Given the description of an element on the screen output the (x, y) to click on. 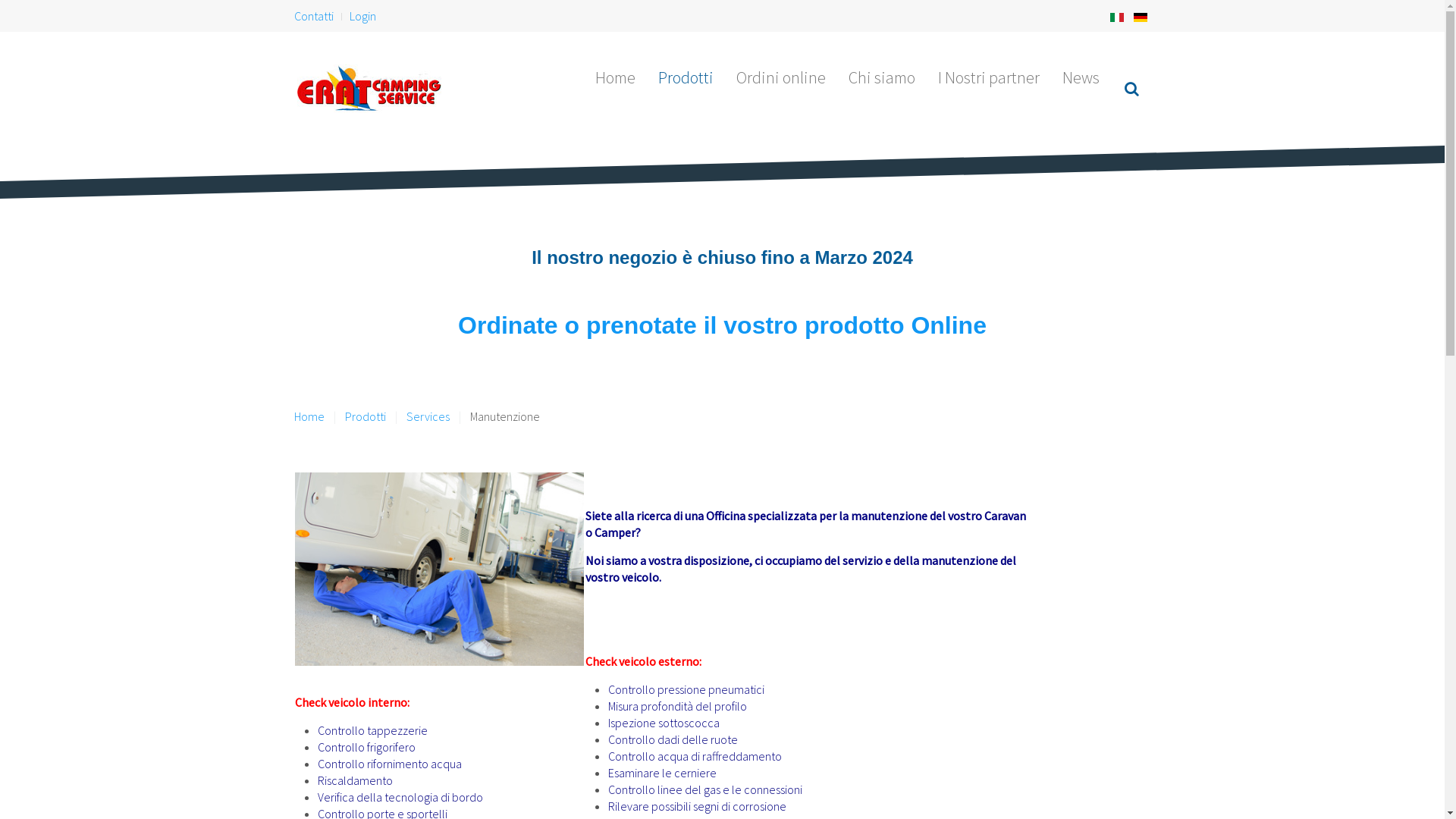
Services Element type: text (427, 415)
Contatti Element type: text (313, 15)
News Element type: text (1080, 76)
I Nostri partner Element type: text (988, 76)
Home Element type: text (614, 76)
Germany Element type: hover (1139, 16)
Ordinate o prenotate il vostro prodotto Online Element type: text (722, 324)
Prodotti Element type: text (685, 76)
Prodotti Element type: text (364, 415)
Login Element type: text (361, 15)
Chi siamo Element type: text (881, 76)
Ordini online Element type: text (780, 76)
Italiano Element type: hover (1116, 16)
Home Element type: text (309, 415)
